Given the description of an element on the screen output the (x, y) to click on. 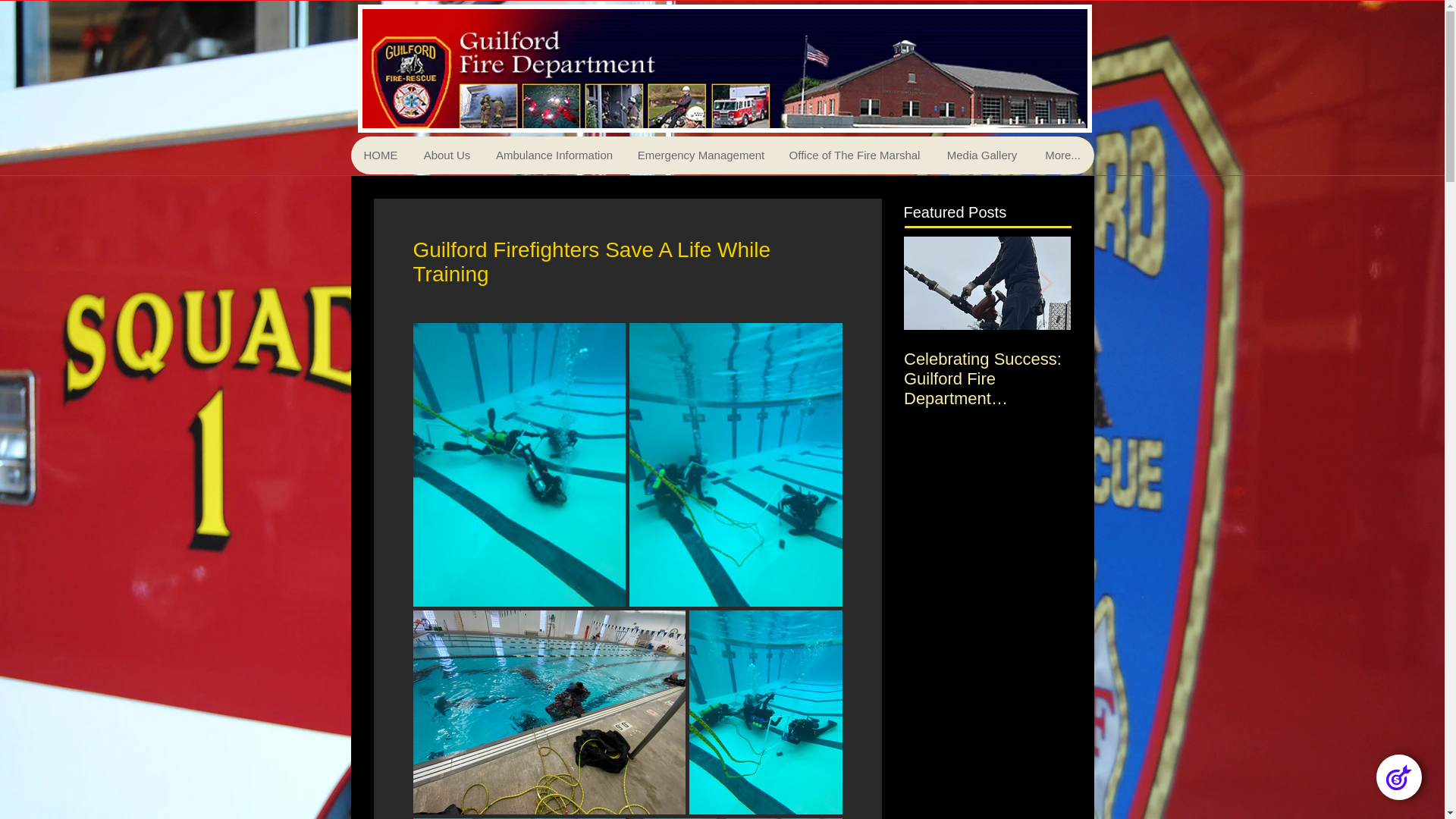
Office of The Fire Marshal (854, 155)
Ambulance Information (552, 155)
HOME (380, 155)
Media Gallery (981, 155)
Emergency Management (700, 155)
About Us (446, 155)
